Given the description of an element on the screen output the (x, y) to click on. 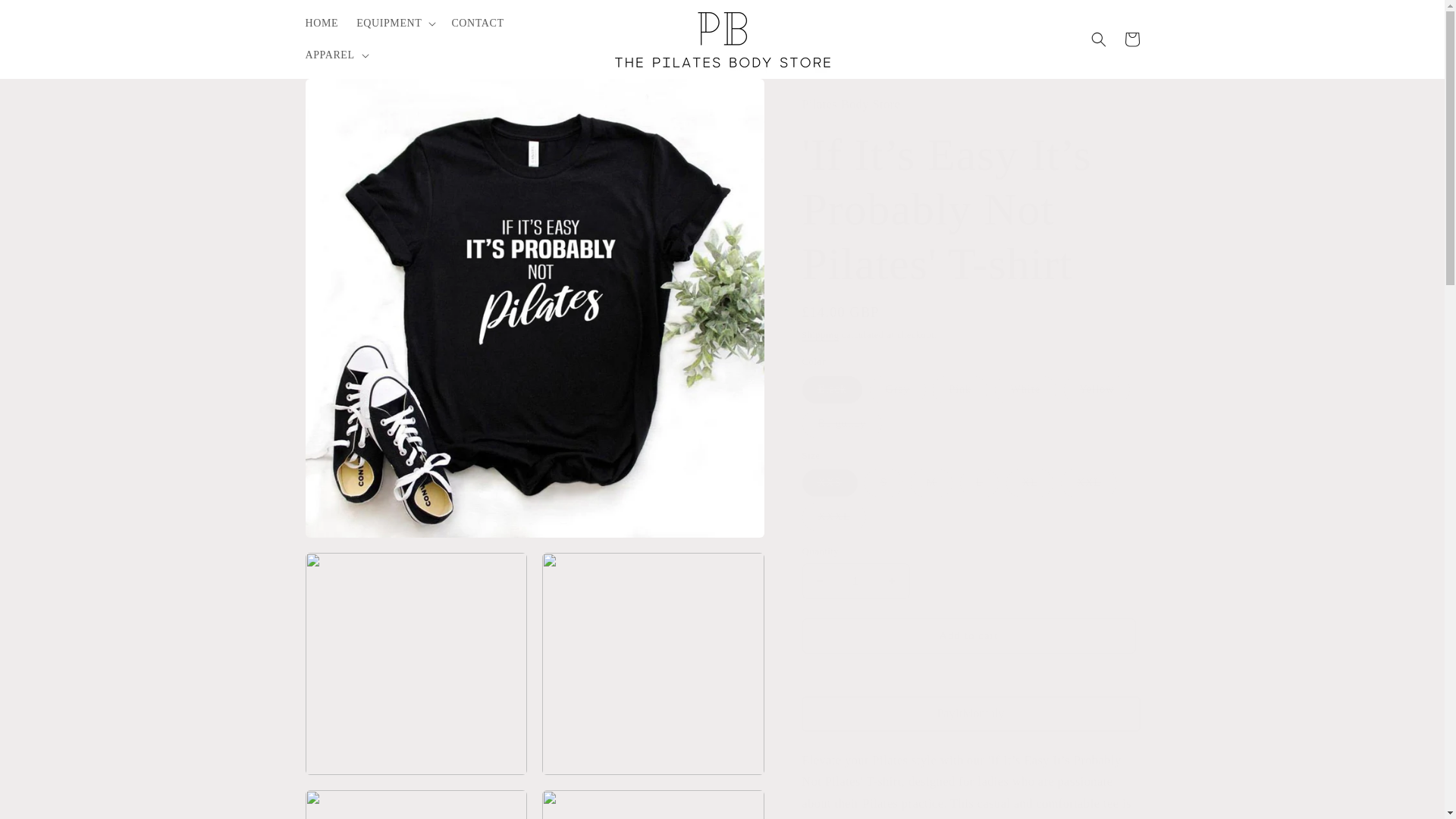
1 (856, 580)
Open media 2 in modal (415, 663)
Open media 5 in modal (652, 804)
Skip to product information (350, 95)
